Given the description of an element on the screen output the (x, y) to click on. 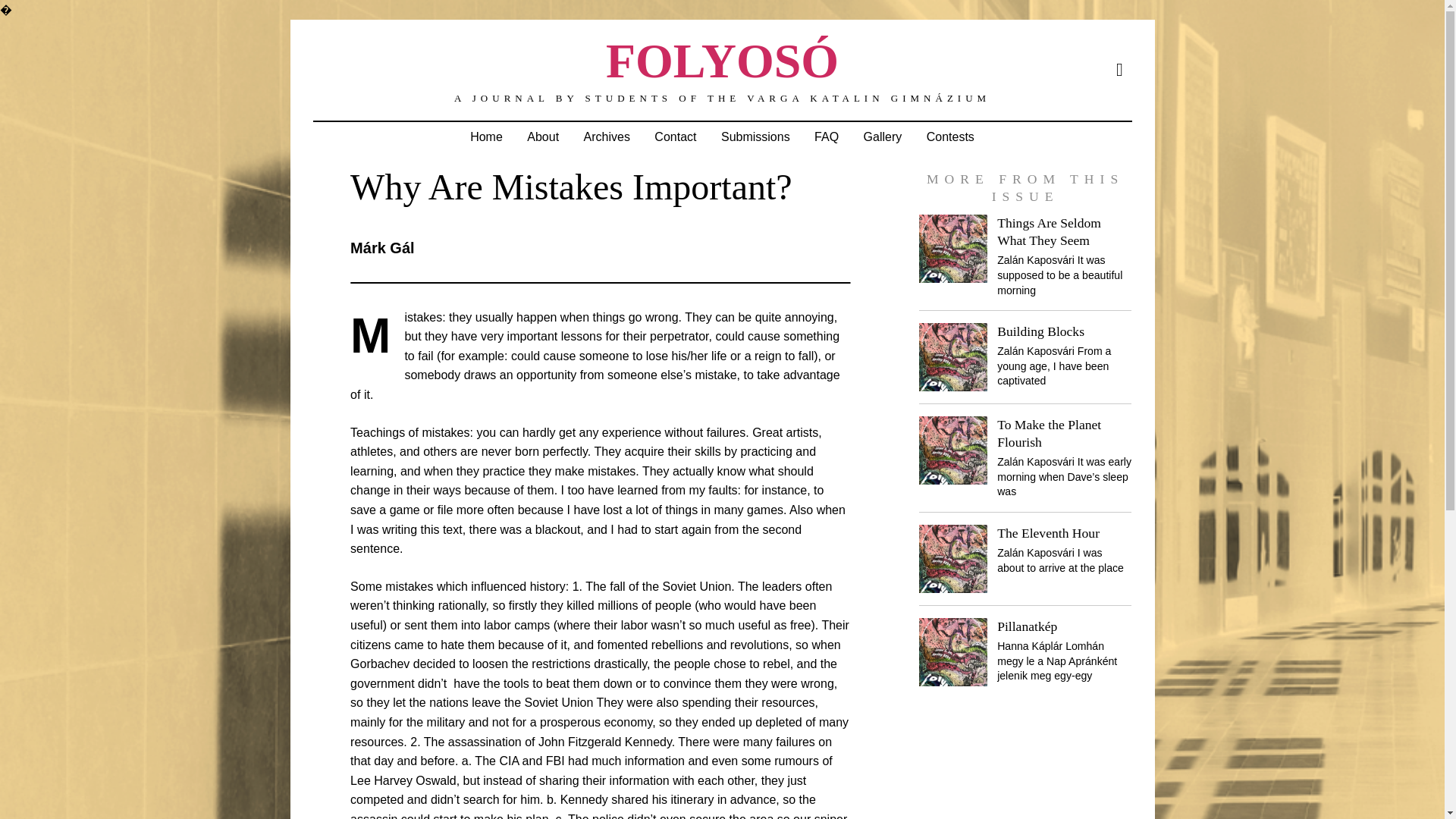
Home (486, 137)
FAQ (825, 137)
Gallery (882, 137)
The Eleventh Hour (1048, 532)
Contact (674, 137)
About (542, 137)
To Make the Planet Flourish (1048, 432)
Contests (950, 137)
Submissions (755, 137)
Building Blocks (1040, 331)
